Given the description of an element on the screen output the (x, y) to click on. 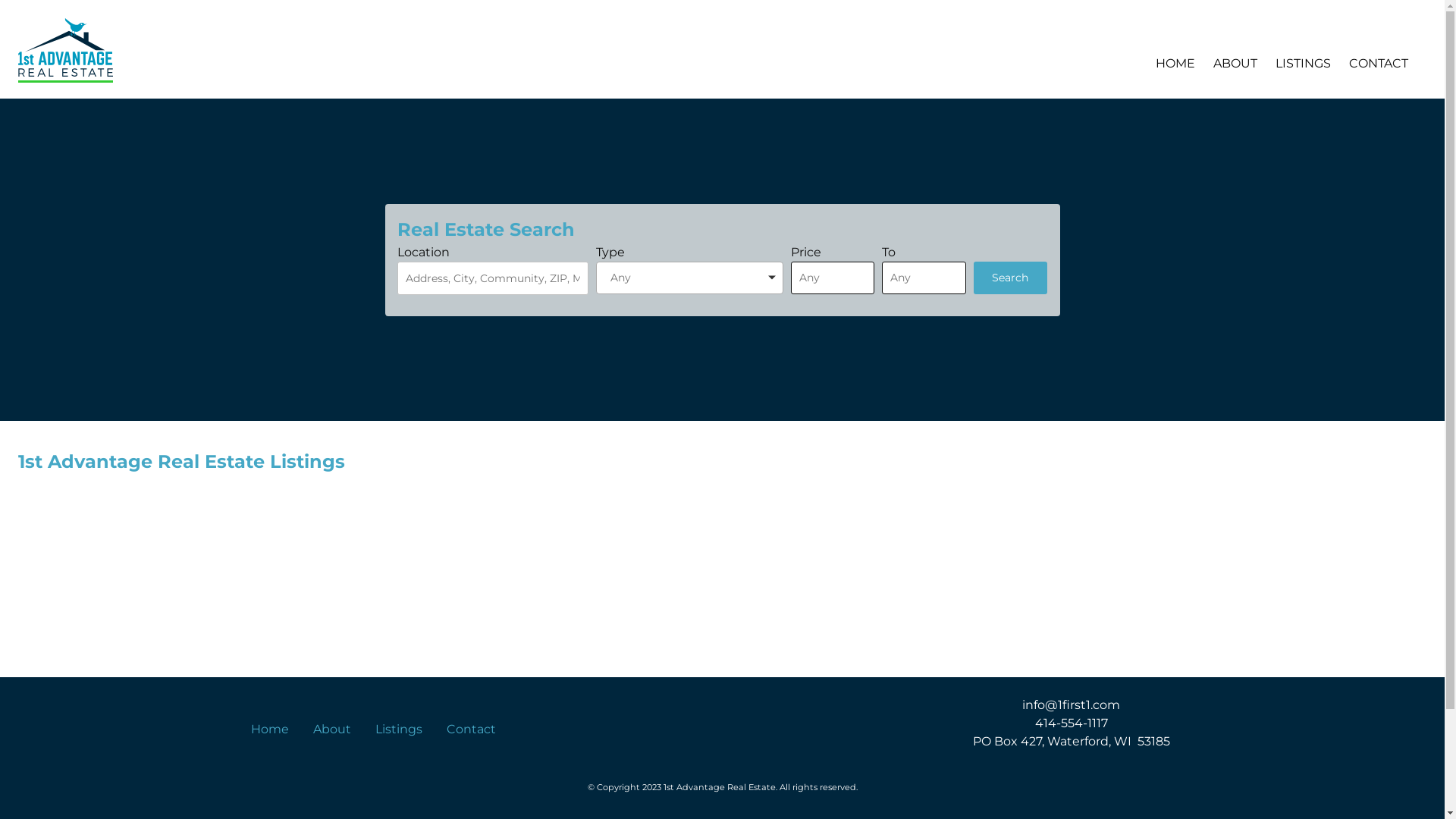
414-554-1117 Element type: text (1071, 722)
HOME Element type: text (1175, 63)
info@1first1.com Element type: text (1071, 704)
ABOUT Element type: text (1235, 63)
Listings Element type: text (398, 728)
Contact Element type: text (470, 728)
Home Element type: text (269, 728)
About Element type: text (332, 728)
LISTINGS Element type: text (1302, 63)
Search Element type: text (1010, 277)
CONTACT Element type: text (1378, 63)
